Given the description of an element on the screen output the (x, y) to click on. 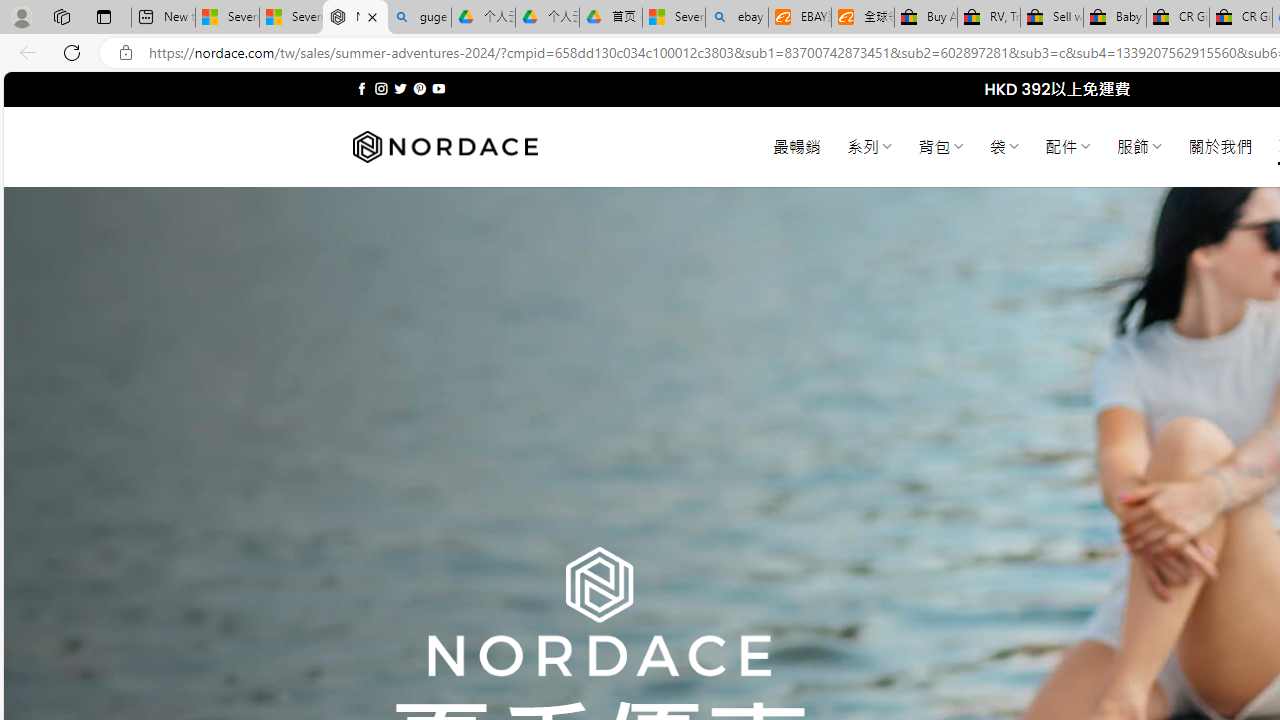
Follow on Twitter (400, 88)
